Given the description of an element on the screen output the (x, y) to click on. 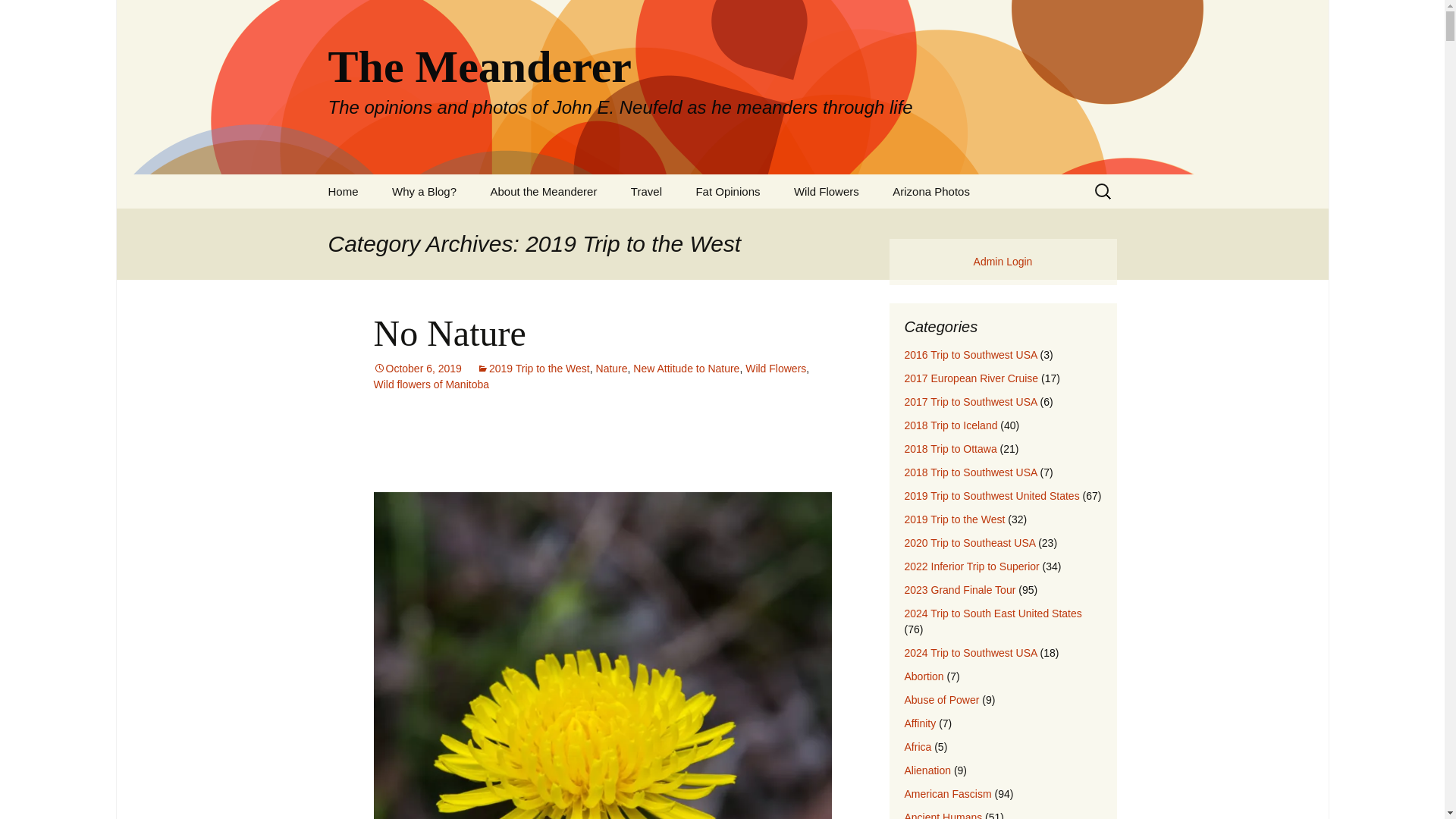
Nature (611, 368)
Home (342, 191)
Orchids of Manitoba (854, 225)
2019 Trip to the West (533, 368)
Permalink to No Nature (416, 368)
October 6, 2019 (416, 368)
Wild Flowers (826, 191)
New Attitude to Nature (686, 368)
Arizona Photos (931, 191)
Art (755, 225)
Why a Blog? (424, 191)
No Nature (448, 332)
Wild Flowers (775, 368)
Search (18, 15)
